Given the description of an element on the screen output the (x, y) to click on. 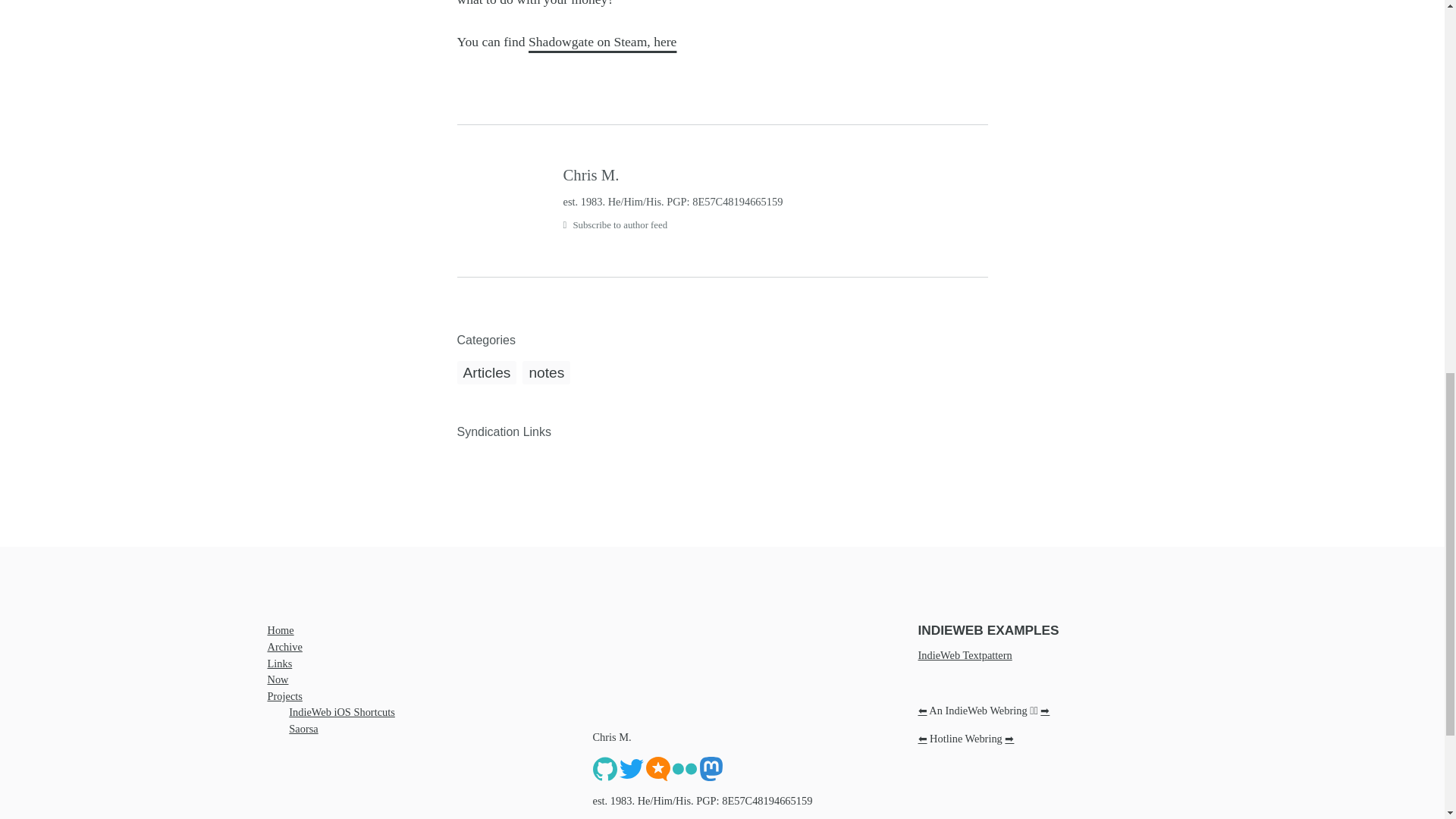
Archive (283, 646)
Twitter icon (630, 768)
Subscribe to author feed (774, 225)
Chris M. (774, 174)
Micro.blog icon (657, 768)
GitHub icon (604, 767)
Articles (486, 372)
Flickr icon (683, 767)
IndieWeb Textpattern (964, 654)
Now (277, 679)
Saorsa (302, 728)
Mastodon icon (710, 767)
Links (279, 663)
Mastodon icon (710, 768)
Shadowgate on Steam, here (602, 41)
